Given the description of an element on the screen output the (x, y) to click on. 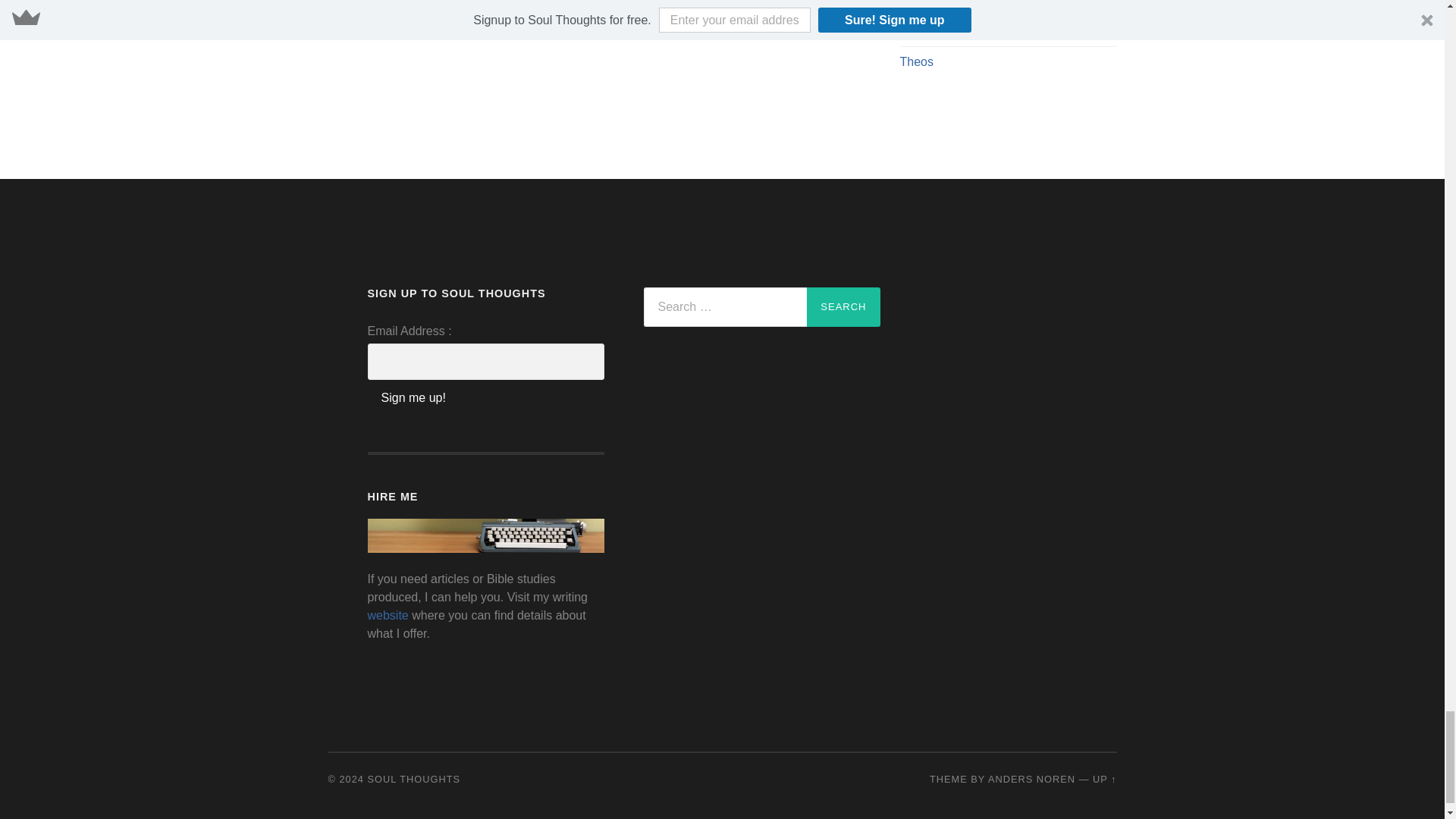
Search (842, 306)
Search (842, 306)
Sign me up! (412, 398)
To the top (1104, 778)
